Given the description of an element on the screen output the (x, y) to click on. 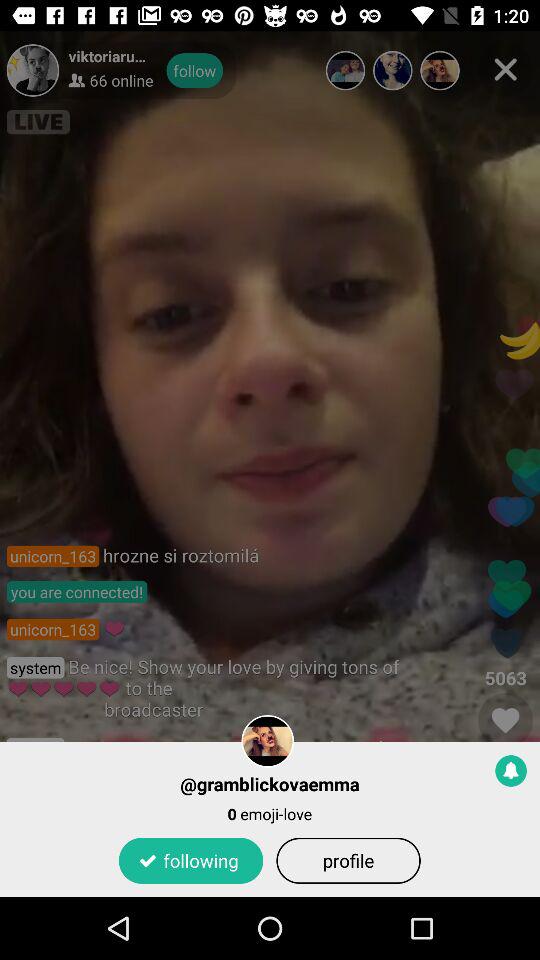
turn on the icon to the right of following item (348, 860)
